Given the description of an element on the screen output the (x, y) to click on. 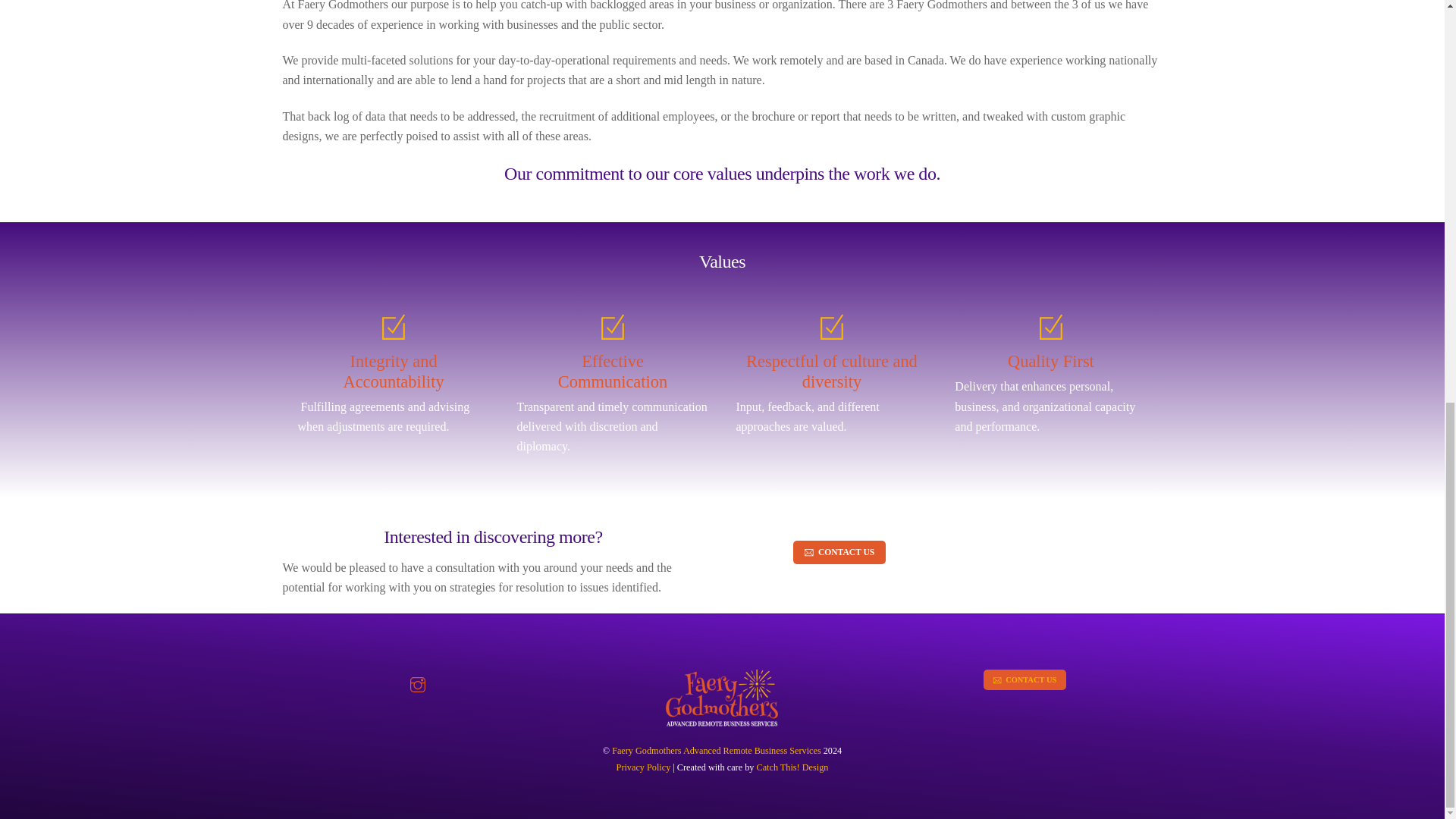
Privacy Policy (643, 767)
CONTACT US (839, 551)
Faery Godmothers Advanced Remote Business Services (716, 750)
Catch This! Design (791, 767)
CONTACT US (1024, 679)
